Given the description of an element on the screen output the (x, y) to click on. 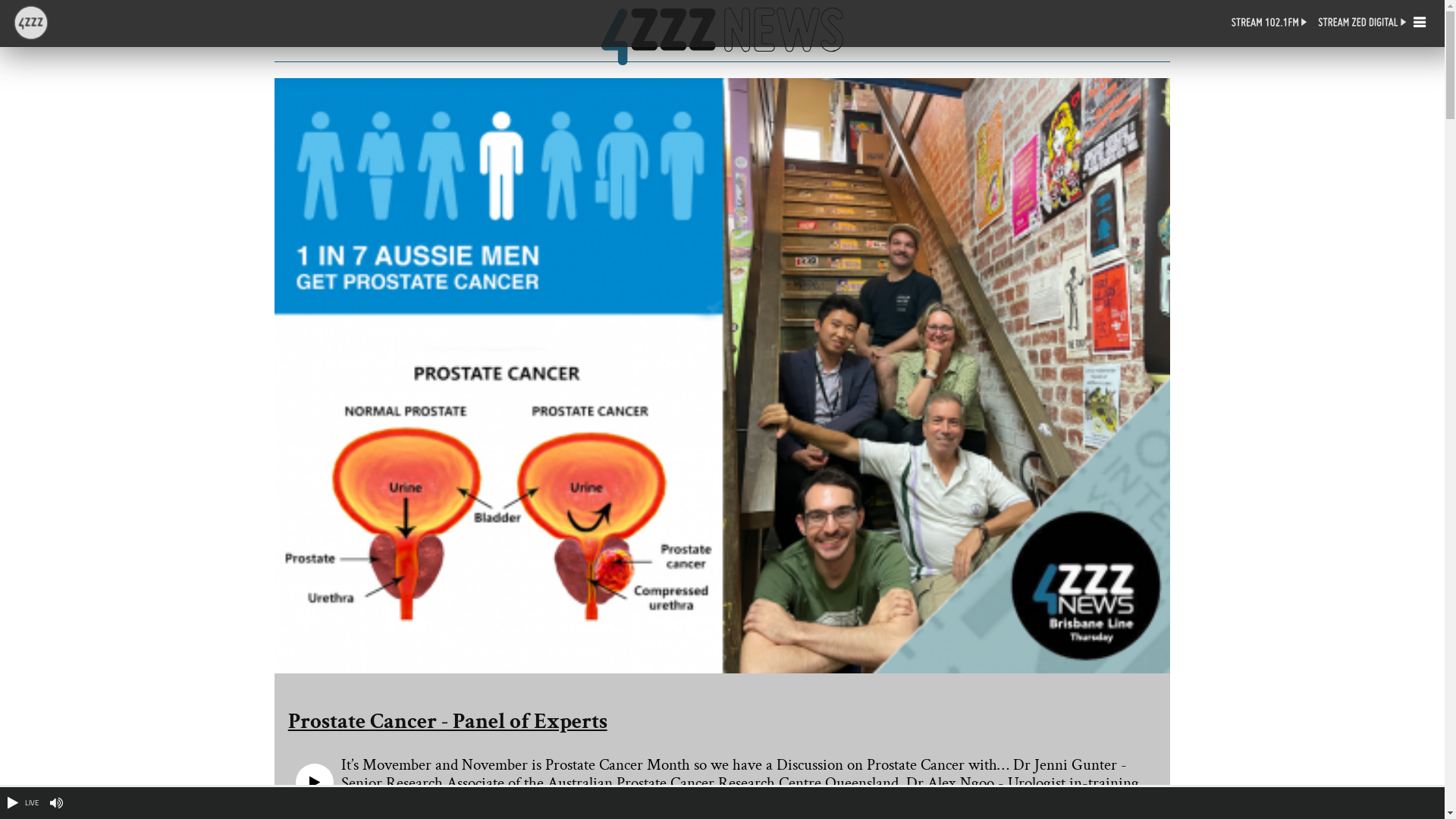
Prostate Cancer - Panel of Experts Element type: text (722, 721)
4ZZZ Element type: hover (31, 33)
